Given the description of an element on the screen output the (x, y) to click on. 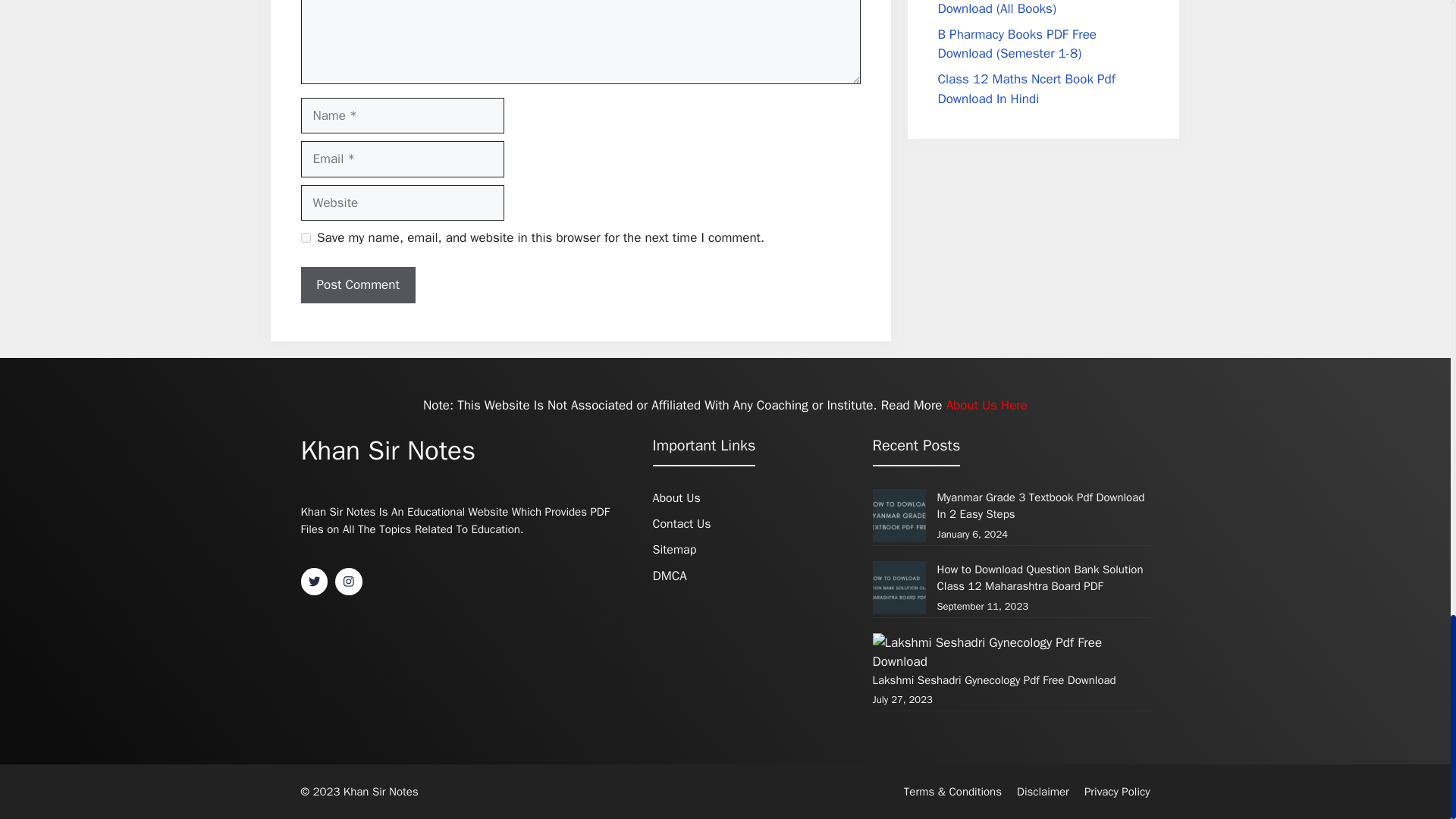
Post Comment (356, 284)
yes (304, 237)
Post Comment (356, 284)
